Given the description of an element on the screen output the (x, y) to click on. 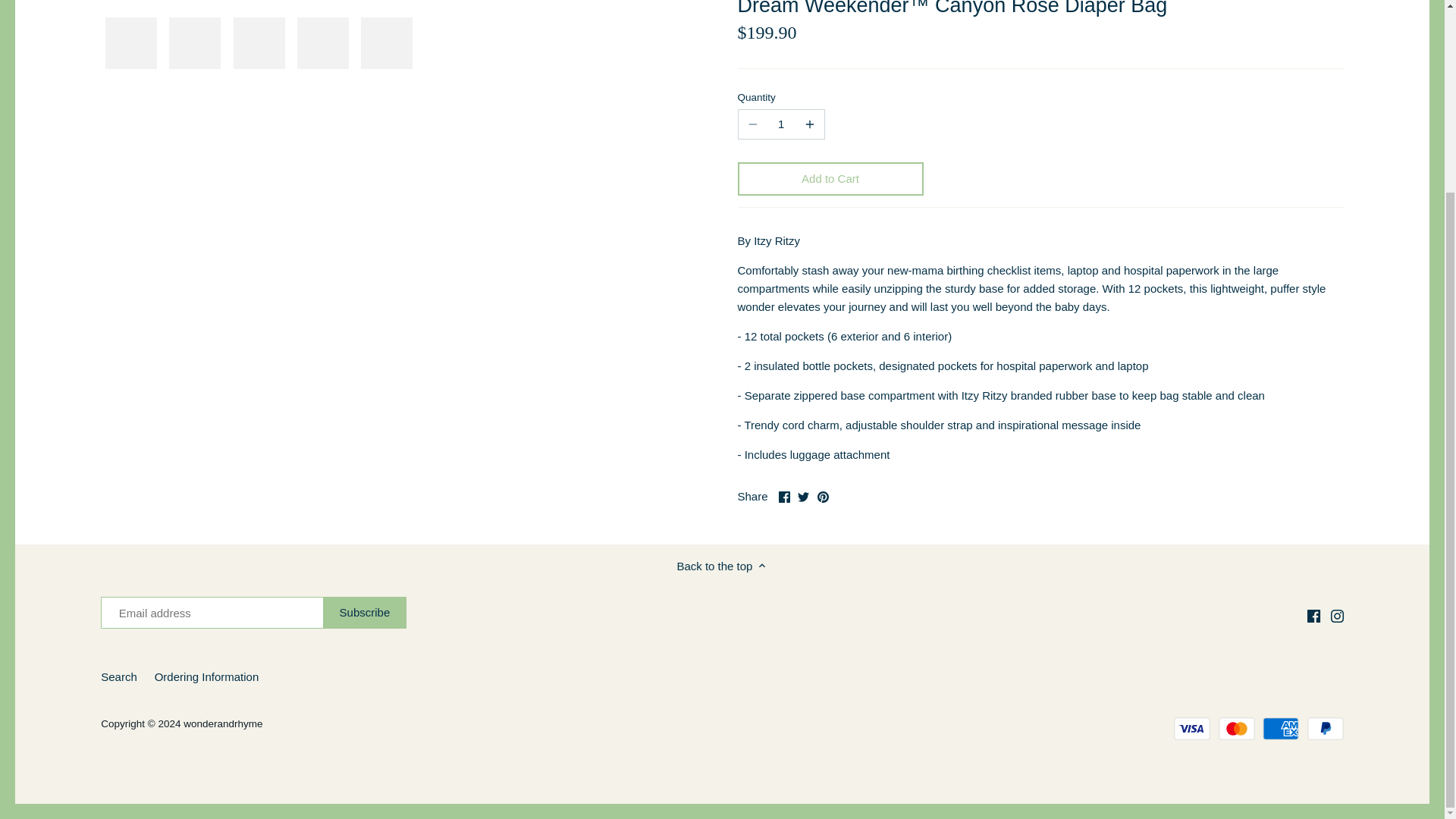
PayPal (1325, 728)
Subscribe (365, 612)
Pinterest (822, 496)
Facebook (1313, 615)
Add to Cart (829, 178)
Search (118, 676)
Back to the top (722, 565)
Twitter (803, 496)
Instagram (1336, 615)
1 (781, 123)
Subscribe (365, 612)
Ordering Information (206, 676)
Mastercard (1236, 728)
Facebook (784, 496)
Visa (1191, 728)
